Given the description of an element on the screen output the (x, y) to click on. 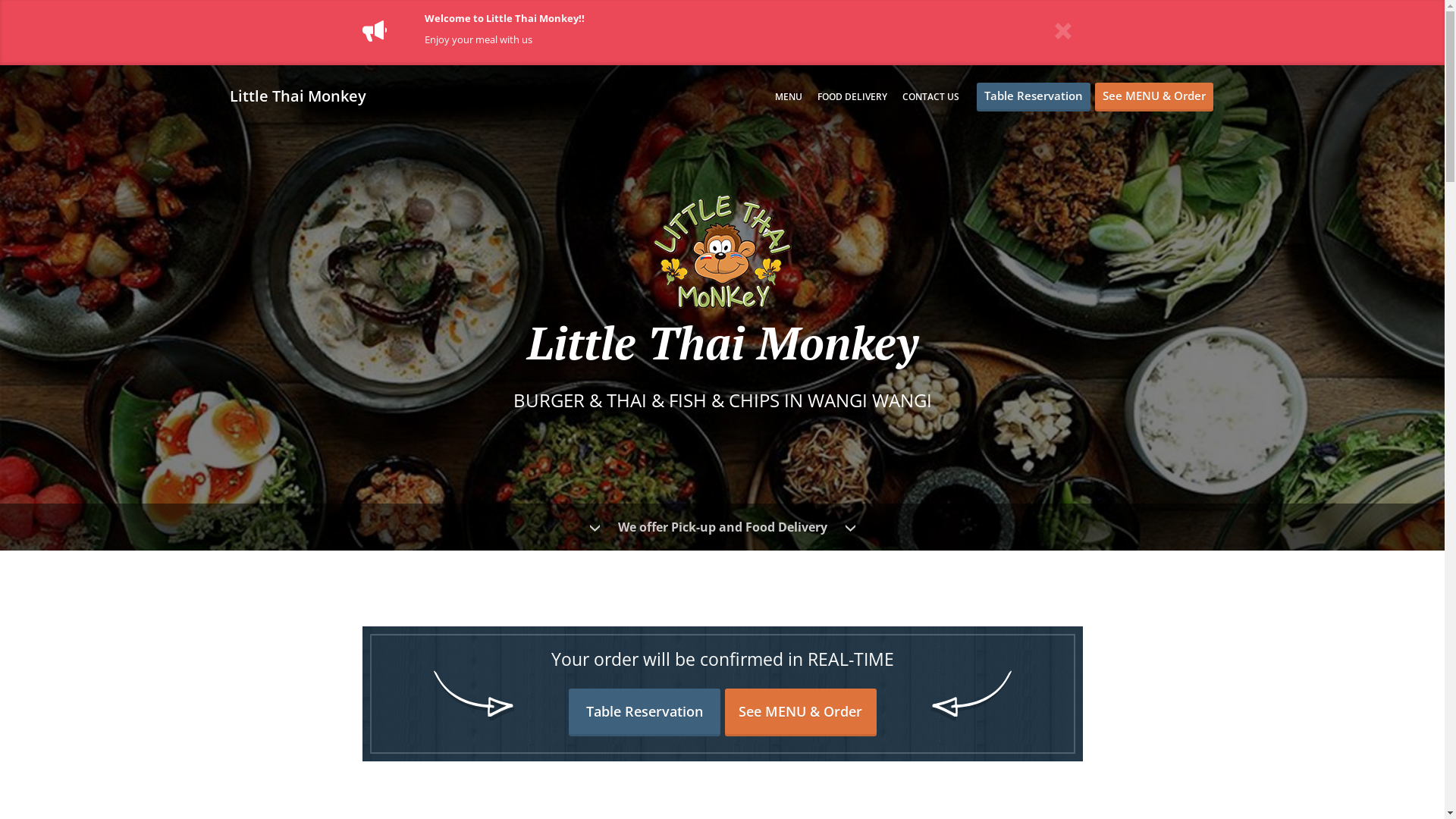
Little Thai Monkey Element type: text (304, 95)
MENU Element type: text (788, 96)
FOOD DELIVERY Element type: text (852, 96)
CONTACT US Element type: text (930, 96)
